Given the description of an element on the screen output the (x, y) to click on. 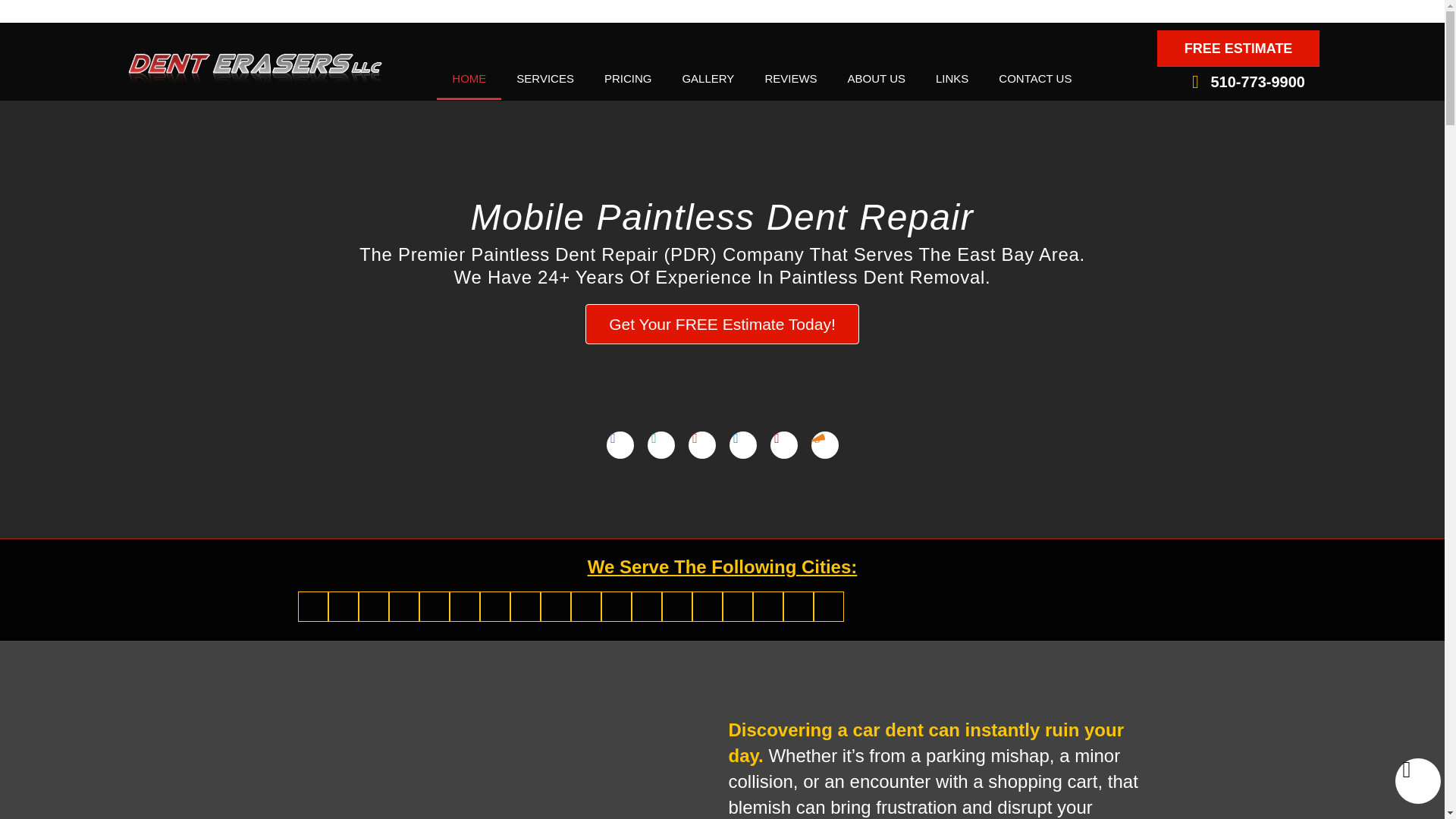
HOME (468, 78)
SERVICES (544, 78)
GALLERY (707, 78)
CONTACT US (1035, 78)
PRICING (627, 78)
ABOUT US (876, 78)
LINKS (952, 78)
REVIEWS (790, 78)
